Given the description of an element on the screen output the (x, y) to click on. 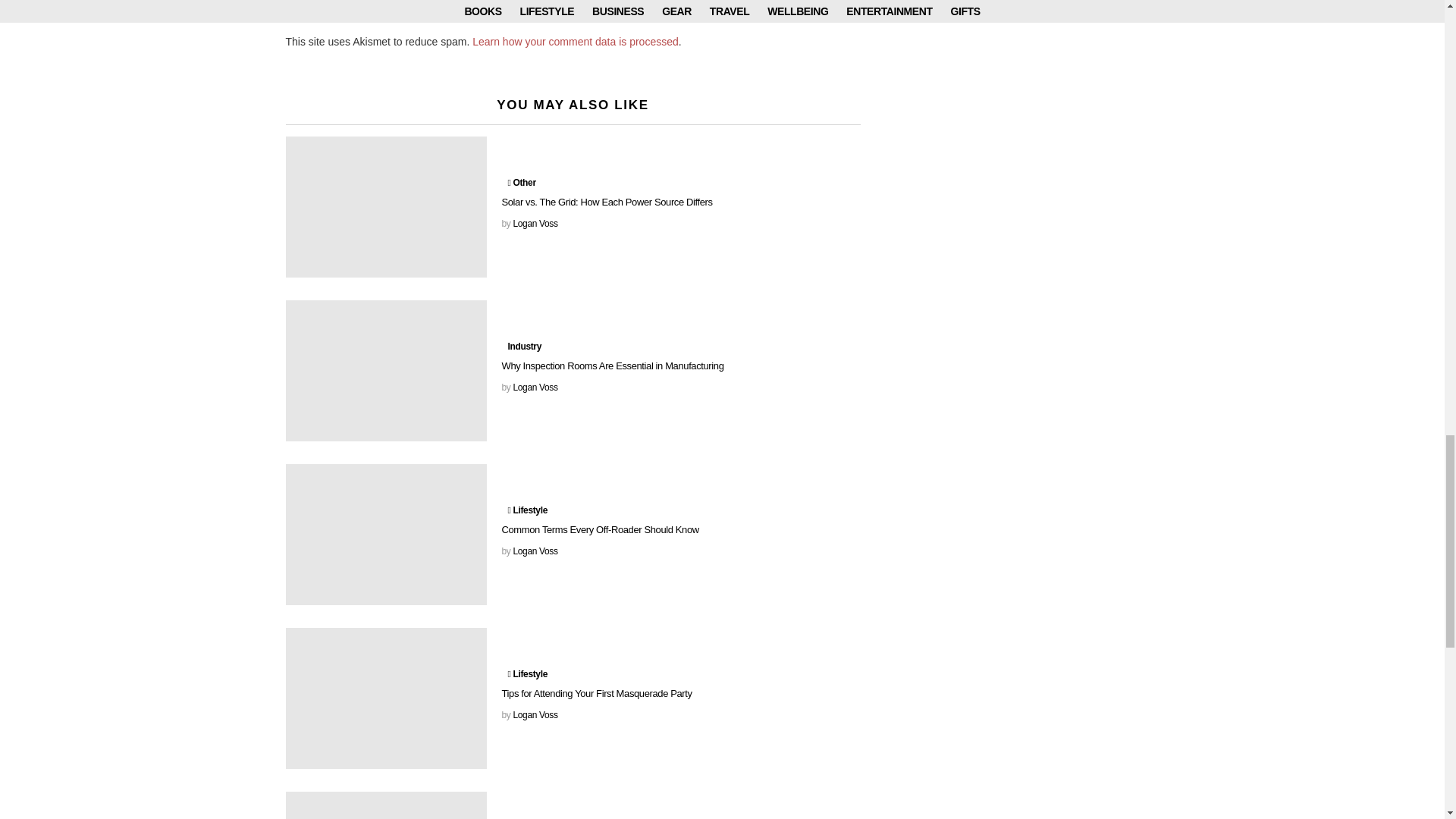
Posts by Logan Voss (534, 551)
Posts by Logan Voss (534, 715)
Tips for Attending Your First Masquerade Party (385, 698)
Solar vs. The Grid: How Each Power Source Differs (385, 206)
Posts by Logan Voss (534, 223)
Post Comment (377, 9)
Posts by Logan Voss (534, 387)
Common Terms Every Off-Roader Should Know (385, 534)
Why Inspection Rooms Are Essential in Manufacturing (385, 370)
The Must-Know Benefits of Daily Meditation (385, 805)
